Given the description of an element on the screen output the (x, y) to click on. 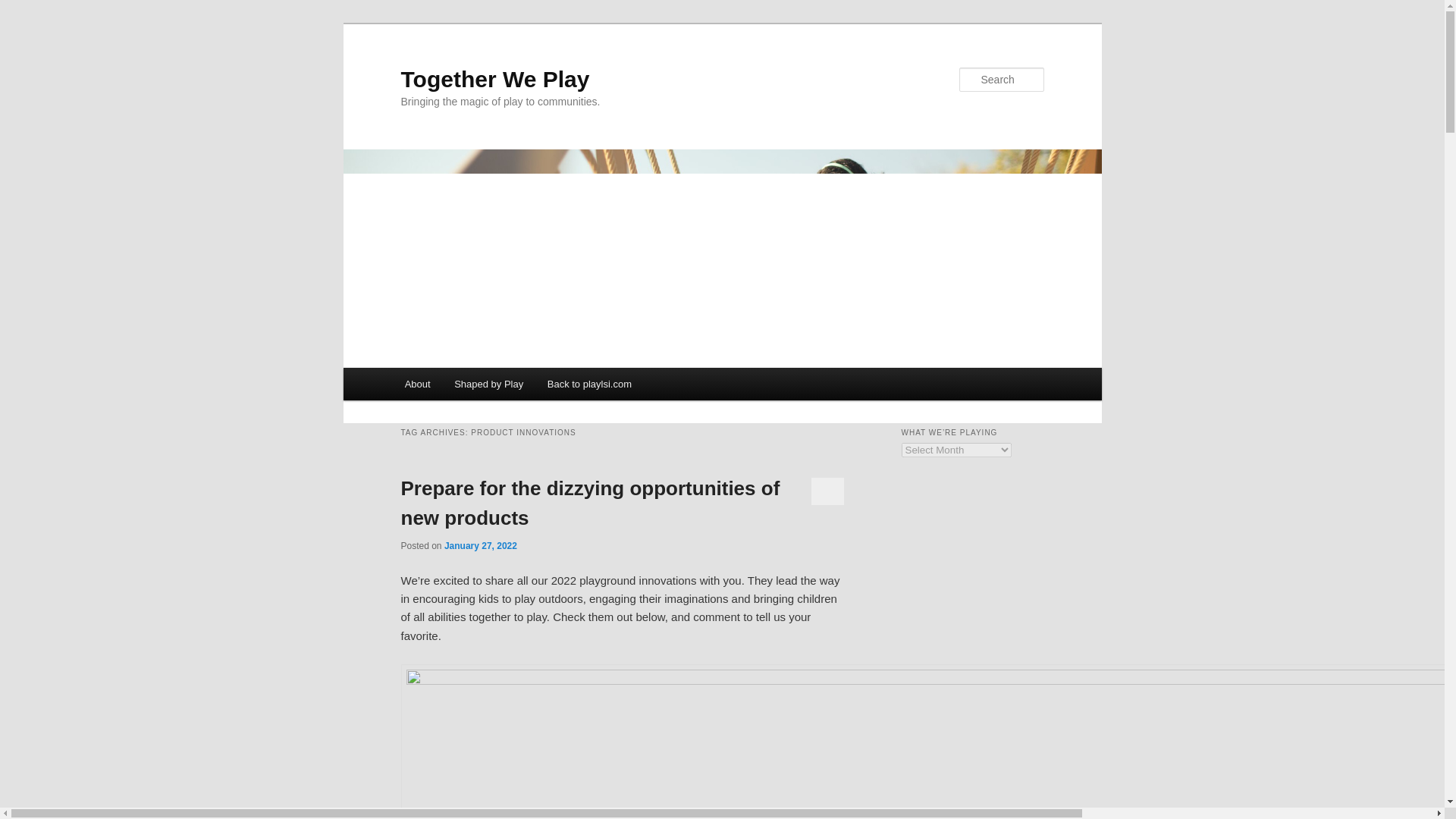
Back to playlsi.com (589, 383)
Prepare for the dizzying opportunities of new products (589, 502)
About (417, 383)
Together We Play (494, 78)
Shaped by Play (488, 383)
Search (24, 8)
1:30 pm (480, 545)
January 27, 2022 (480, 545)
